Given the description of an element on the screen output the (x, y) to click on. 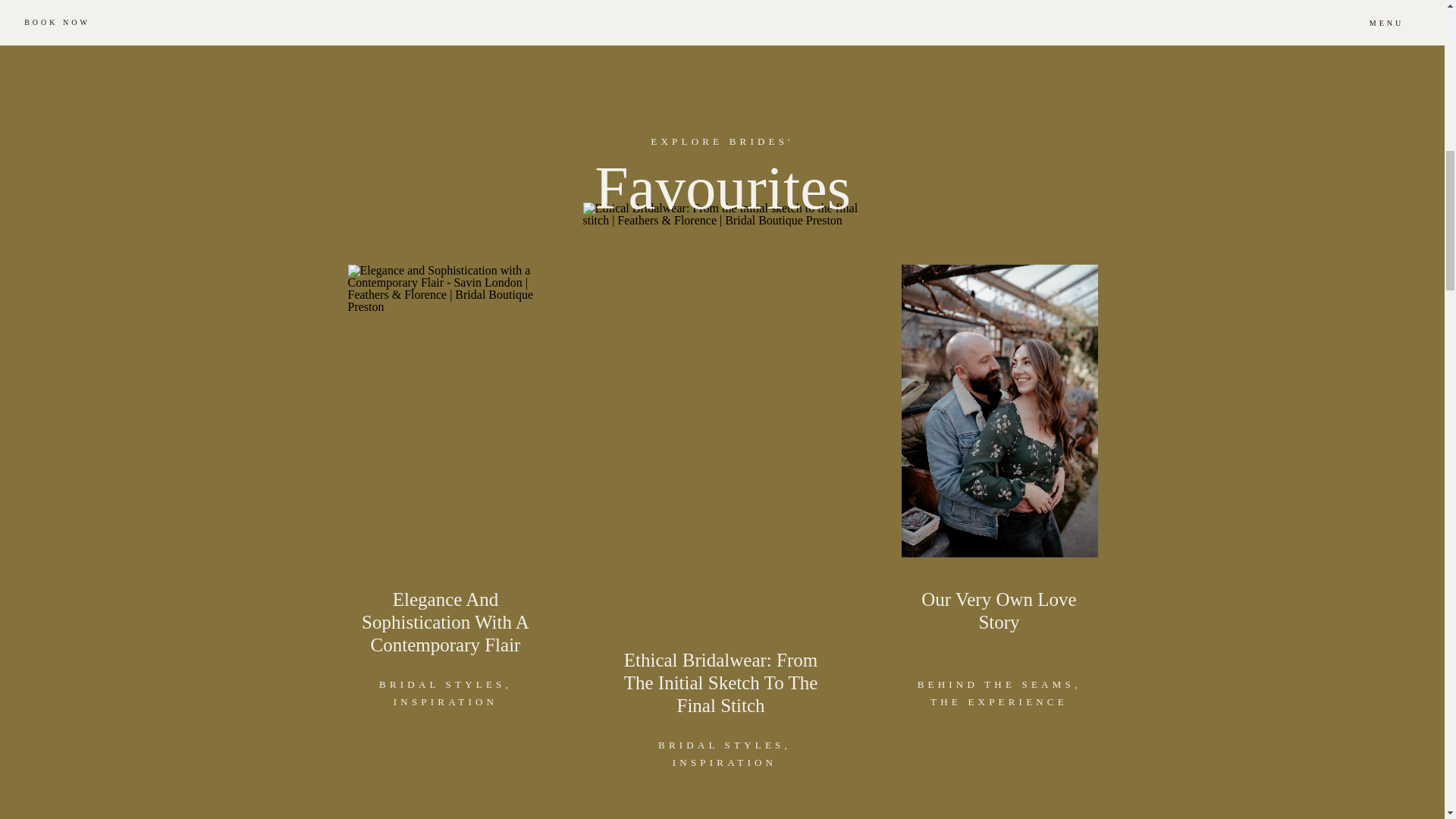
BRIDAL STYLES (441, 684)
Elegance And Sophistication With A Contemporary Flair (445, 621)
Our Very Own Love Story (998, 610)
INSPIRATION (724, 762)
THE EXPERIENCE (998, 701)
BRIDAL STYLES (721, 745)
BEHIND THE SEAMS (995, 684)
INSPIRATION (445, 701)
